Given the description of an element on the screen output the (x, y) to click on. 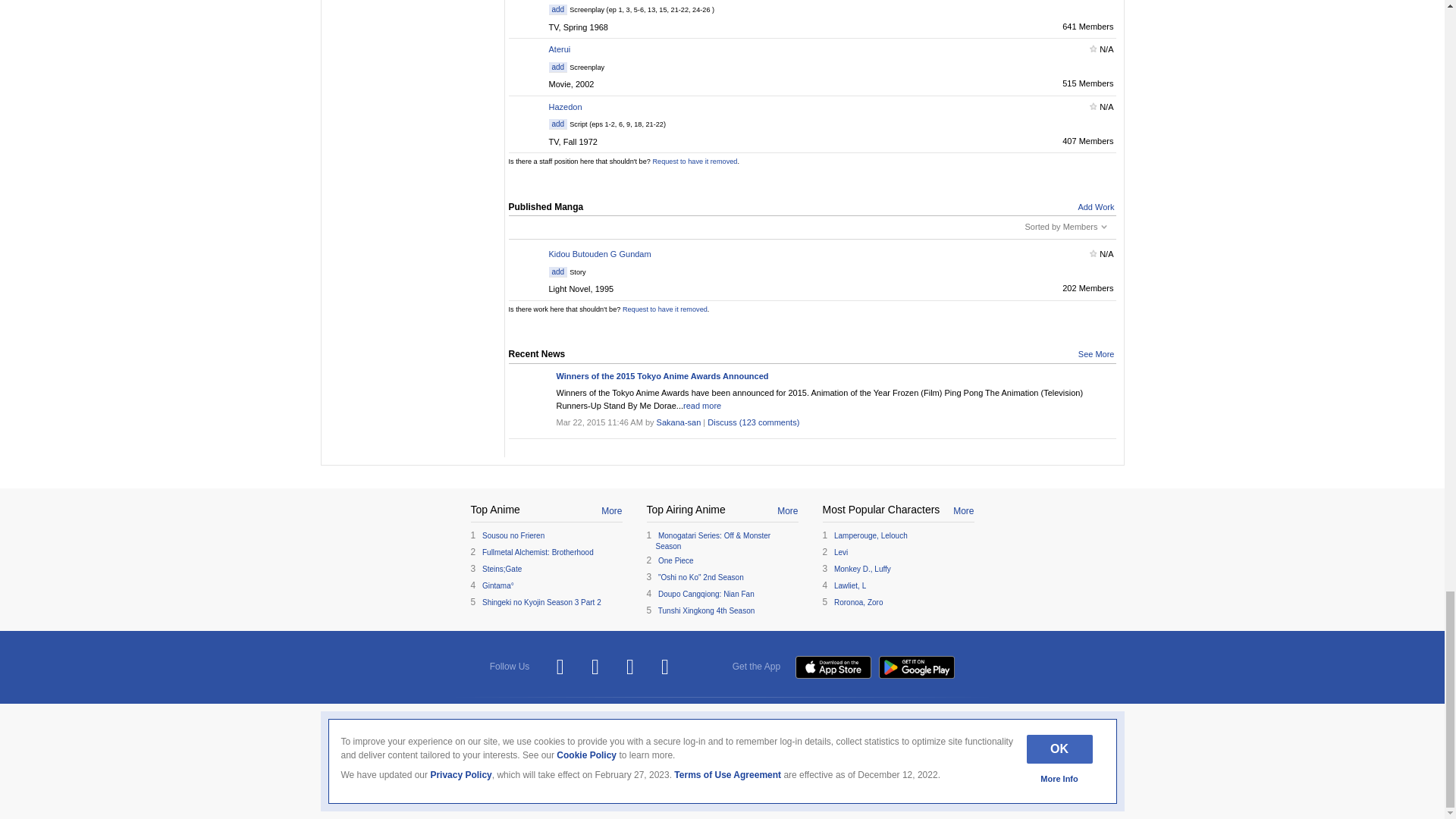
Join Discord Chat (665, 666)
